Given the description of an element on the screen output the (x, y) to click on. 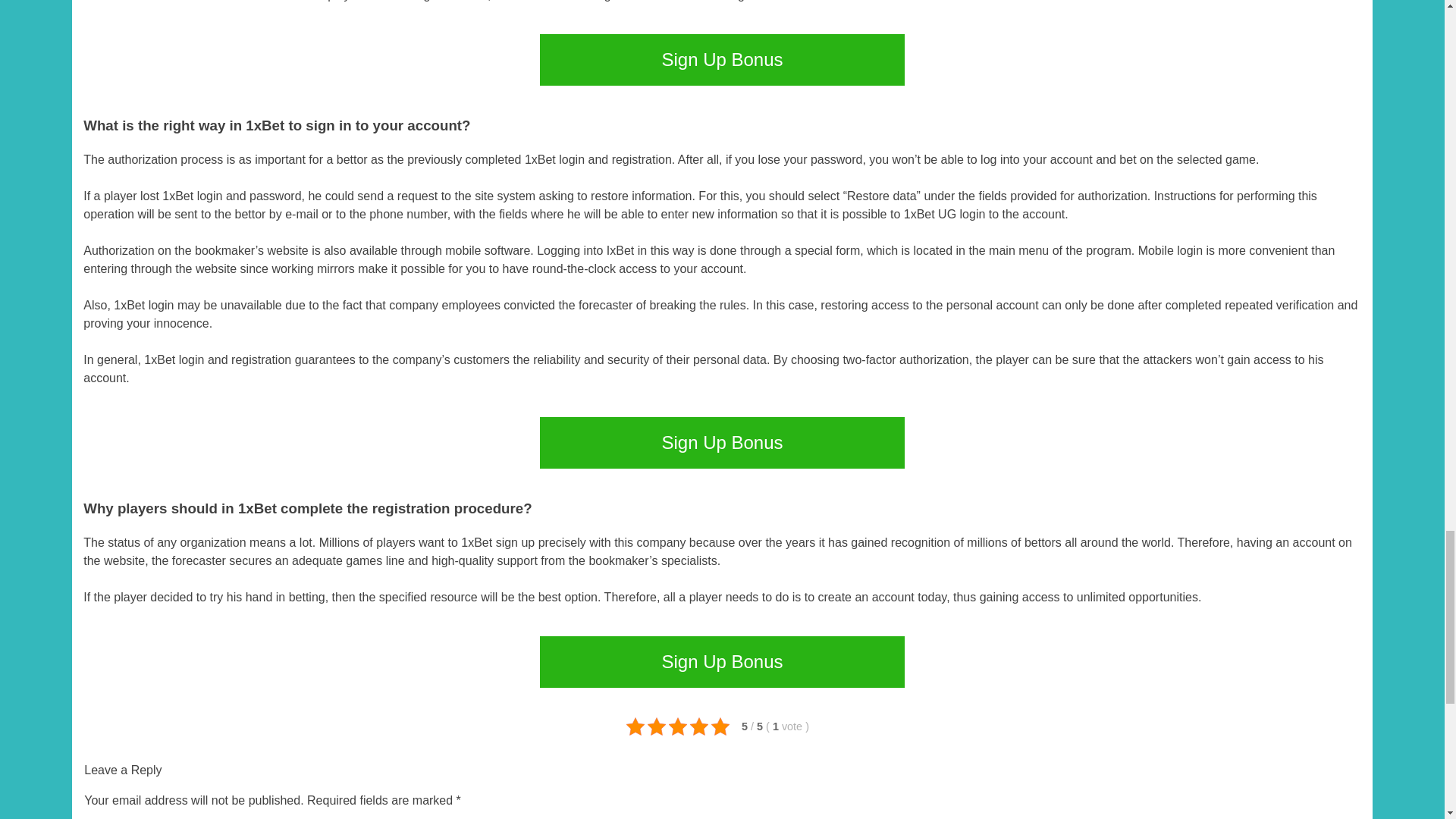
Sign Up Bonus (722, 442)
Sign Up Bonus (722, 661)
Sign Up Bonus (722, 59)
